Given the description of an element on the screen output the (x, y) to click on. 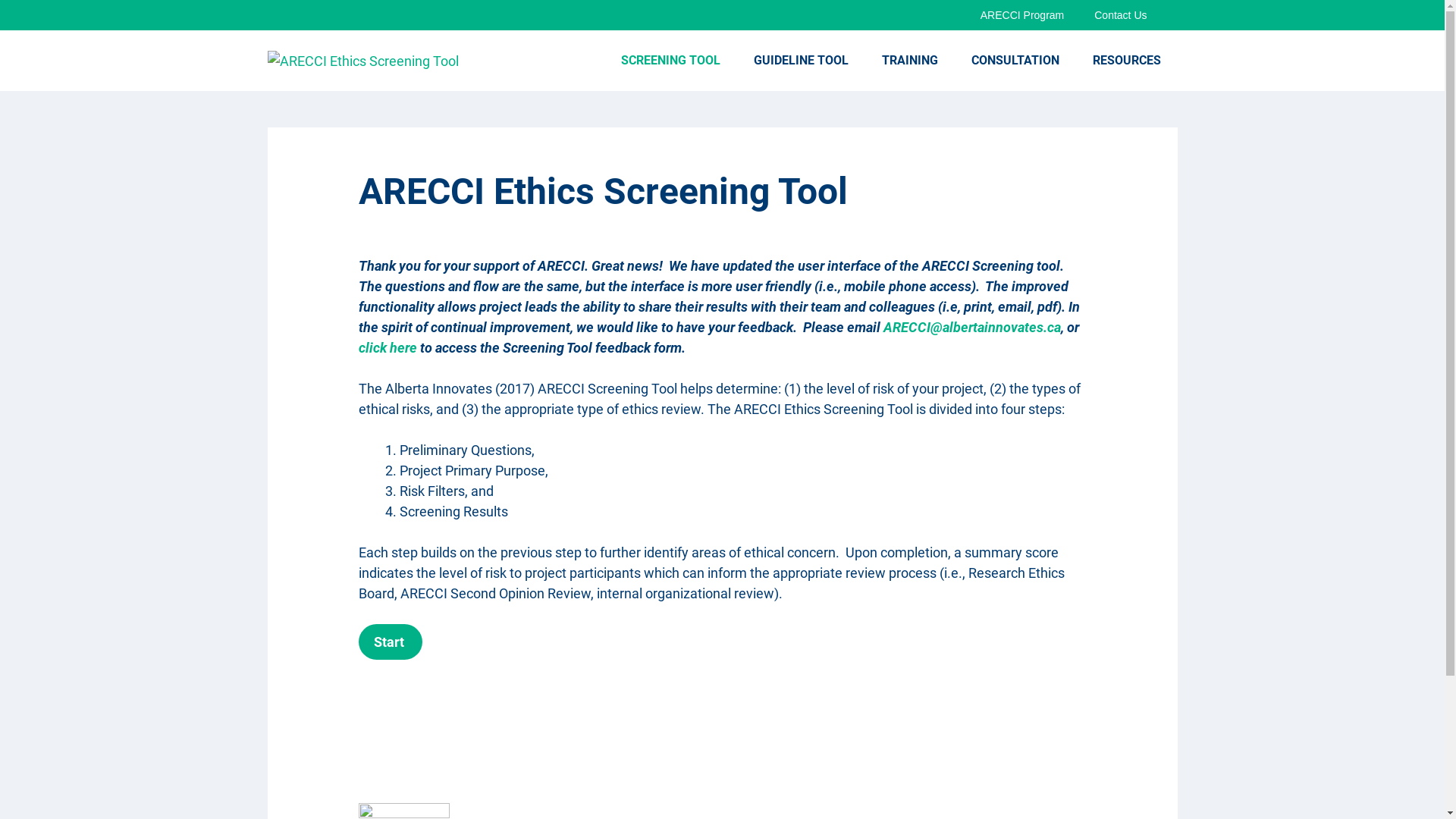
Contact Us Element type: text (1120, 15)
Start Element type: text (389, 641)
ARECCI Ethics Screening Tool Element type: hover (362, 60)
CONSULTATION Element type: text (1014, 60)
RESOURCES Element type: text (1125, 60)
ARECCI Program Element type: text (1022, 15)
ARECCI Ethics Screening Tool Element type: hover (362, 60)
click here Element type: text (386, 347)
GUIDELINE TOOL Element type: text (801, 60)
SCREENING TOOL Element type: text (669, 60)
TRAINING Element type: text (908, 60)
ARECCI@albertainnovates.ca Element type: text (971, 327)
